Given the description of an element on the screen output the (x, y) to click on. 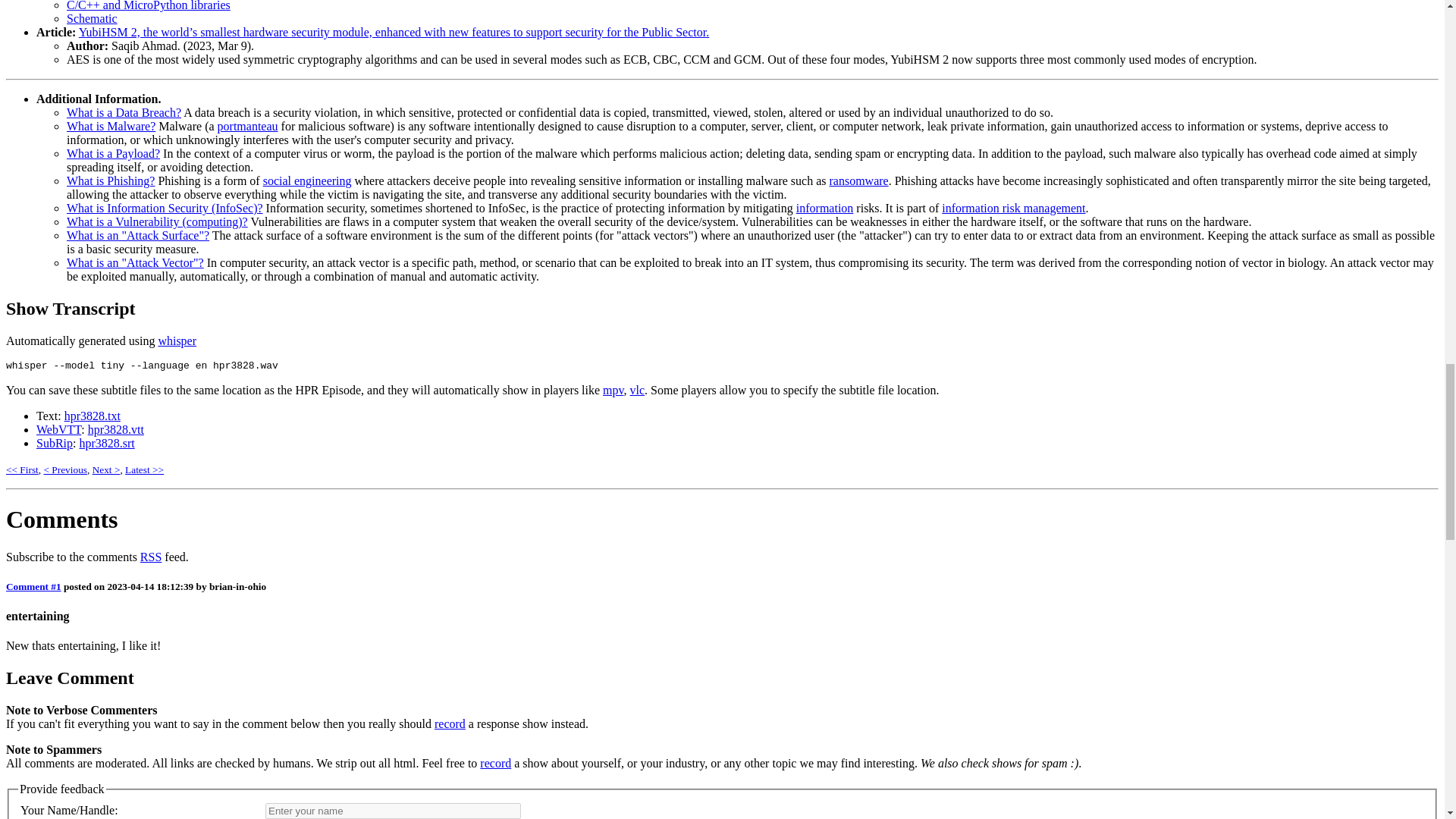
Malware: from Wikipedia, the free encyclopedia. (110, 125)
Data Breach: from Wikipedia, the free encyclopedia. (123, 112)
Multiple words are combined into a new word. (247, 125)
Phishing: from Wikipedia, the free encyclopedia. (110, 180)
